Given the description of an element on the screen output the (x, y) to click on. 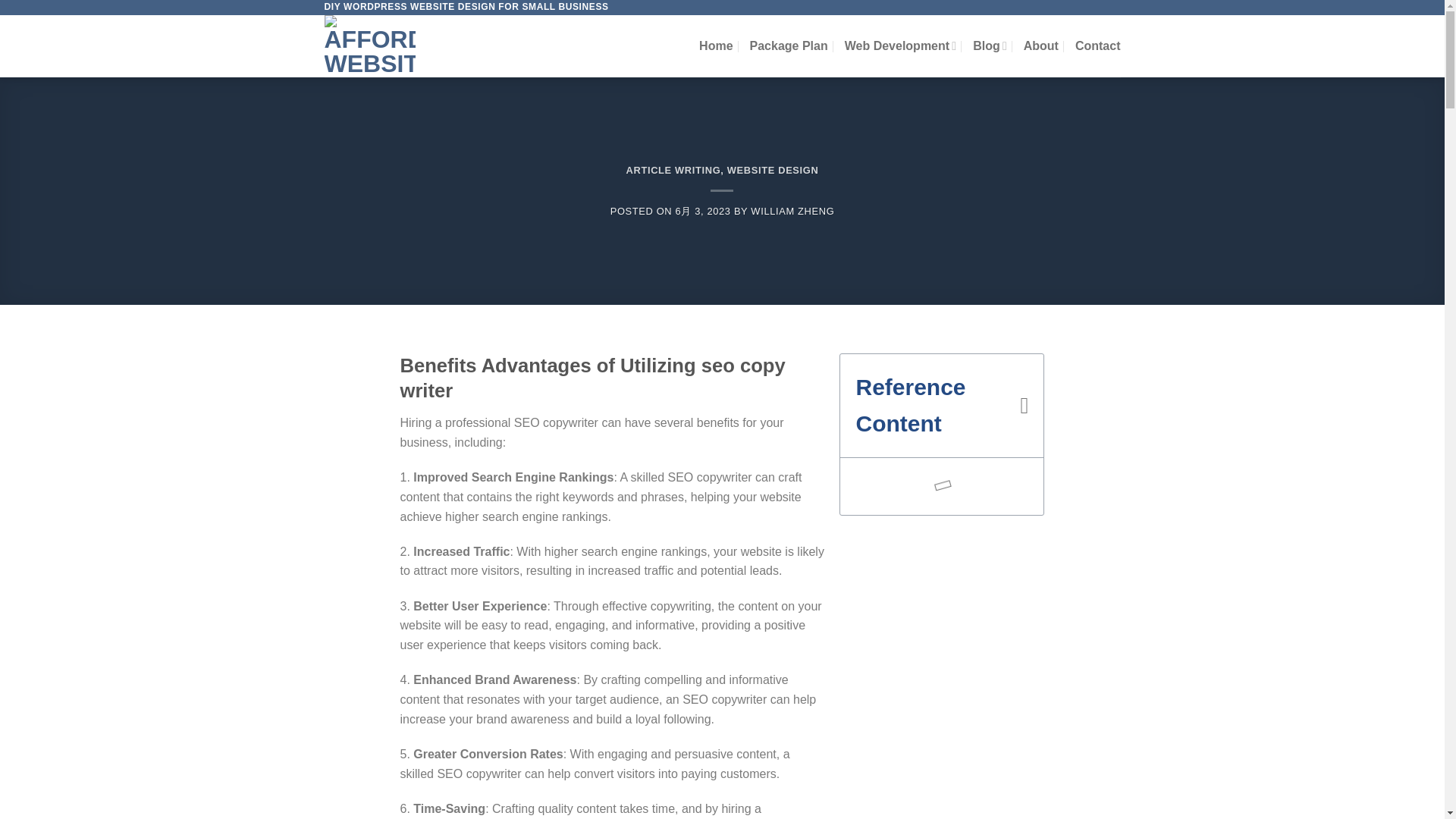
Blog (989, 45)
About (1040, 45)
WEBSITE DESIGN (772, 170)
WILLIAM ZHENG (792, 211)
Web Development (900, 45)
ARTICLE WRITING (673, 170)
Package Plan (788, 45)
Contact (1098, 45)
Home (715, 45)
